Given the description of an element on the screen output the (x, y) to click on. 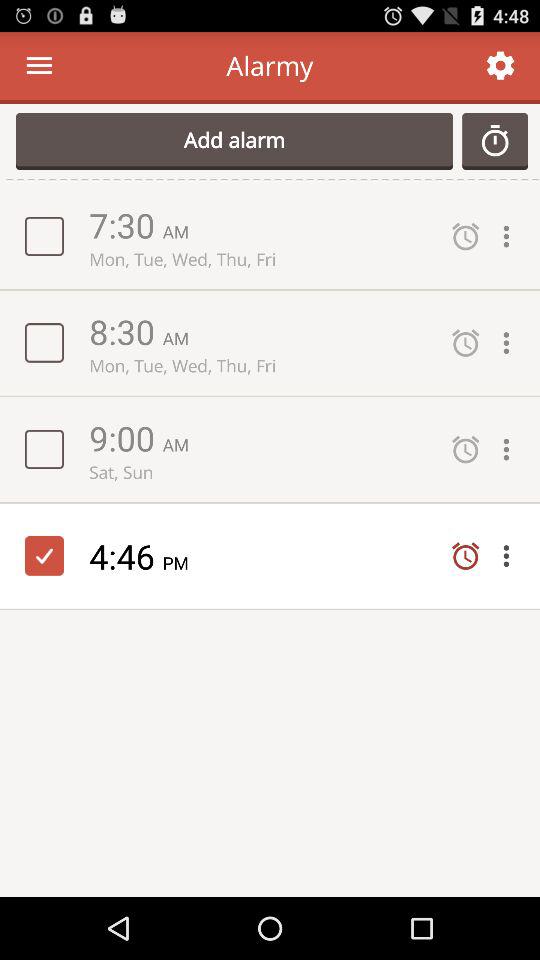
swipe to sat, sun item (259, 471)
